Given the description of an element on the screen output the (x, y) to click on. 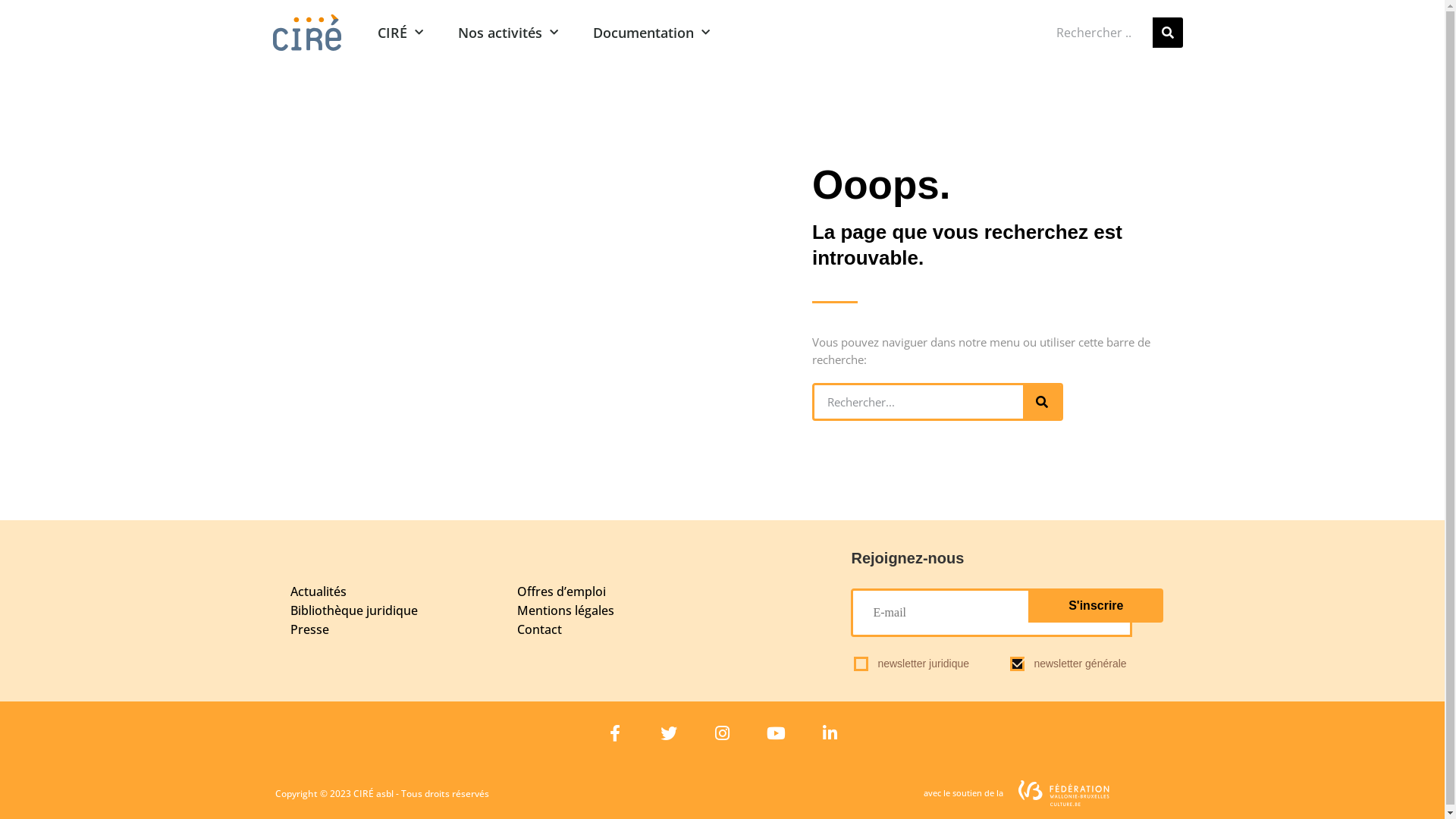
Documentation Element type: text (651, 32)
Presse Element type: text (380, 629)
S'inscrire Element type: text (1095, 605)
Contact Element type: text (668, 629)
